Given the description of an element on the screen output the (x, y) to click on. 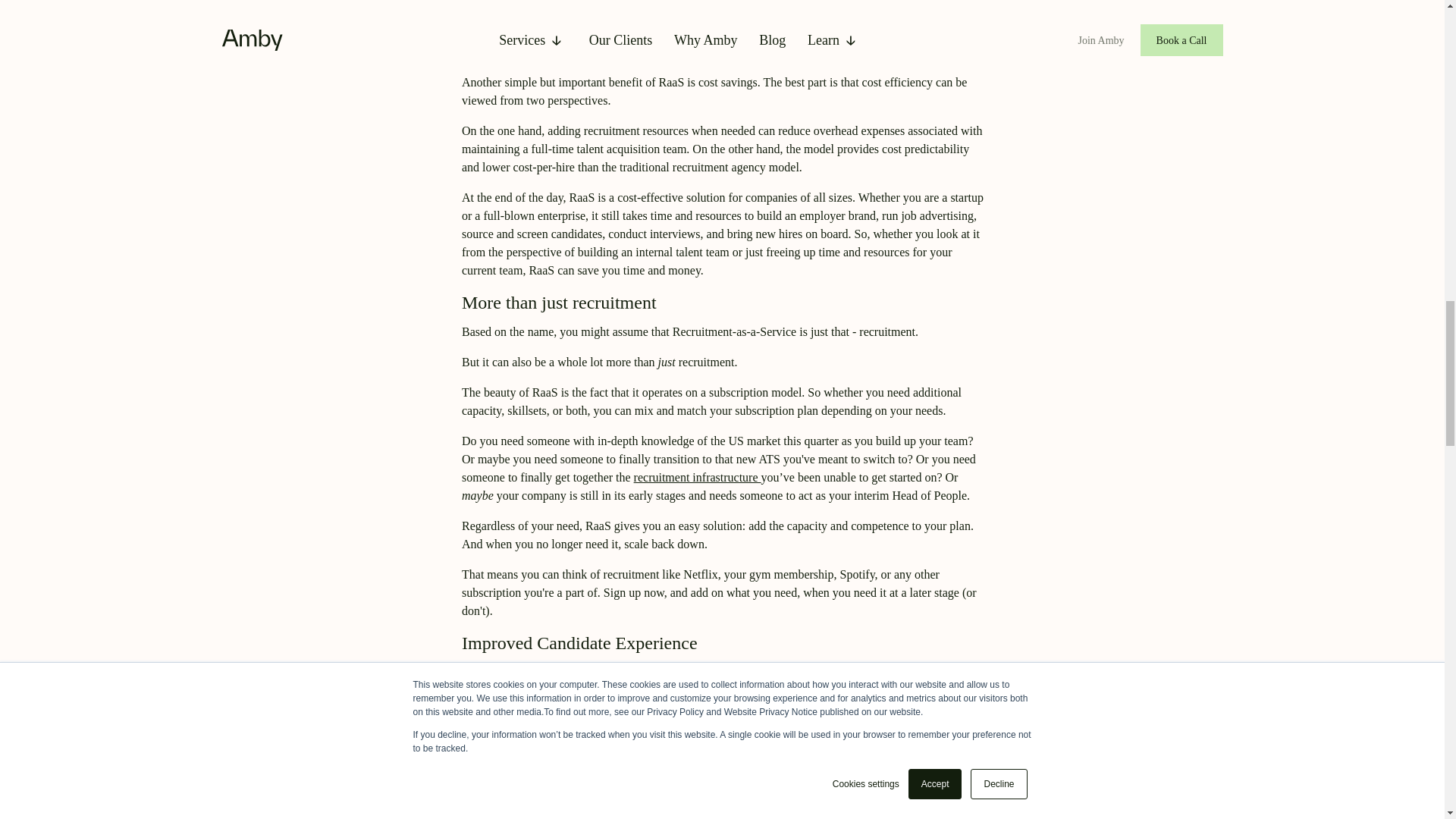
recruitment infrastructure (697, 477)
